Given the description of an element on the screen output the (x, y) to click on. 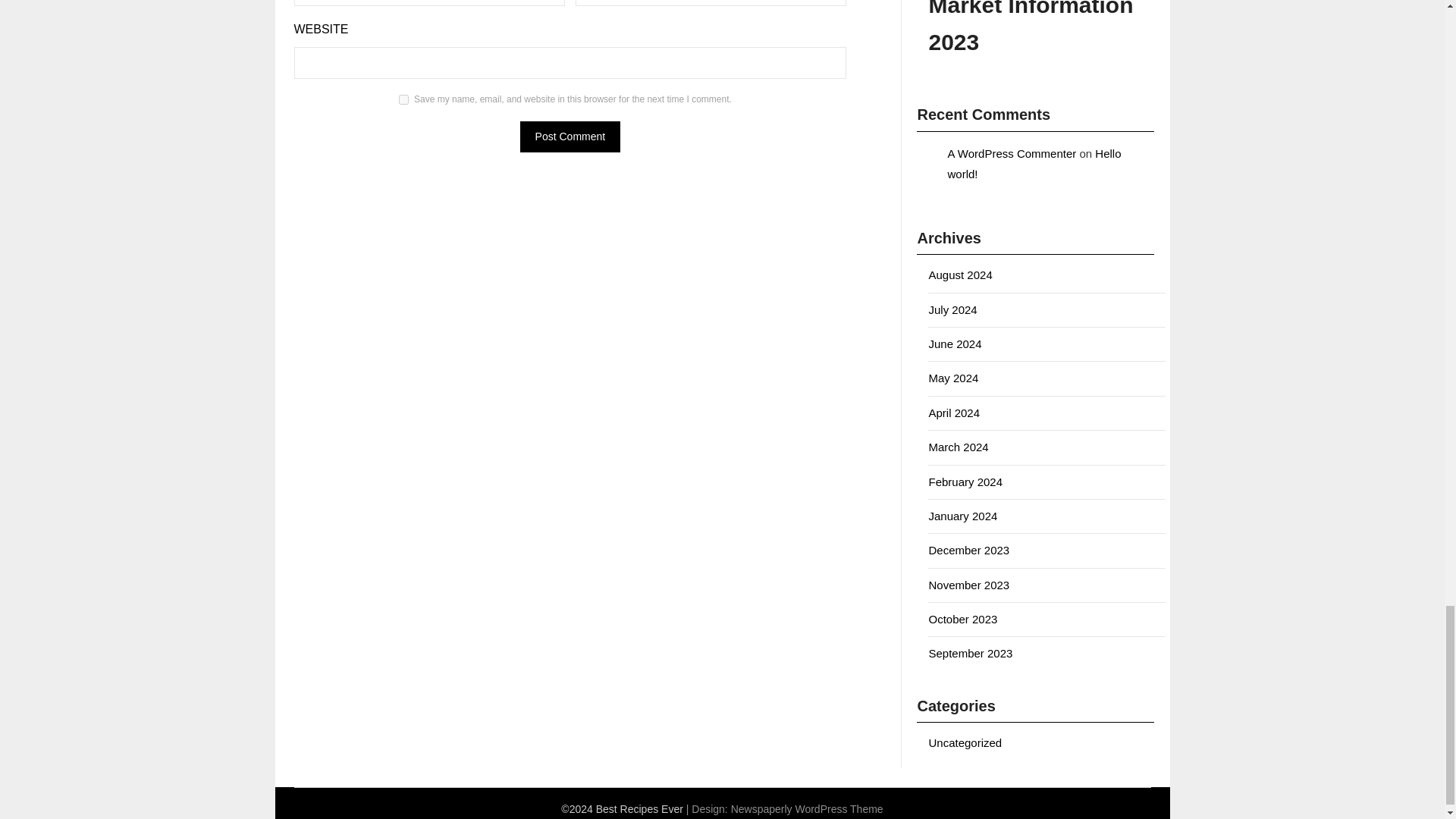
yes (403, 99)
Post Comment (570, 136)
Post Comment (570, 136)
